Given the description of an element on the screen output the (x, y) to click on. 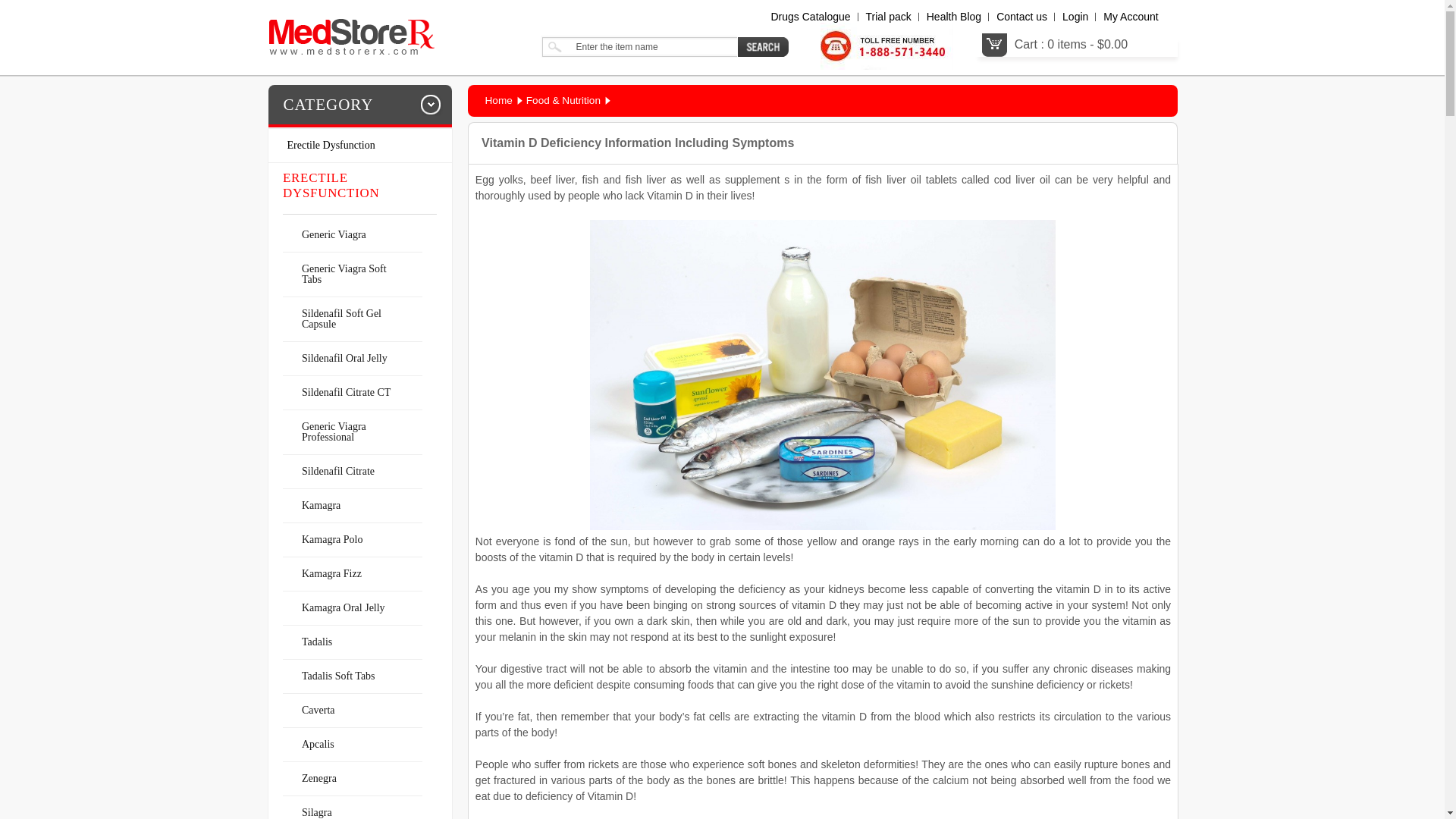
Trial pack (888, 16)
Login (1074, 16)
Search (763, 46)
Drugs Catalogue (810, 16)
Enter the item name (638, 46)
Health Blog (953, 16)
My Account (1130, 16)
Contact us (1020, 16)
